Given the description of an element on the screen output the (x, y) to click on. 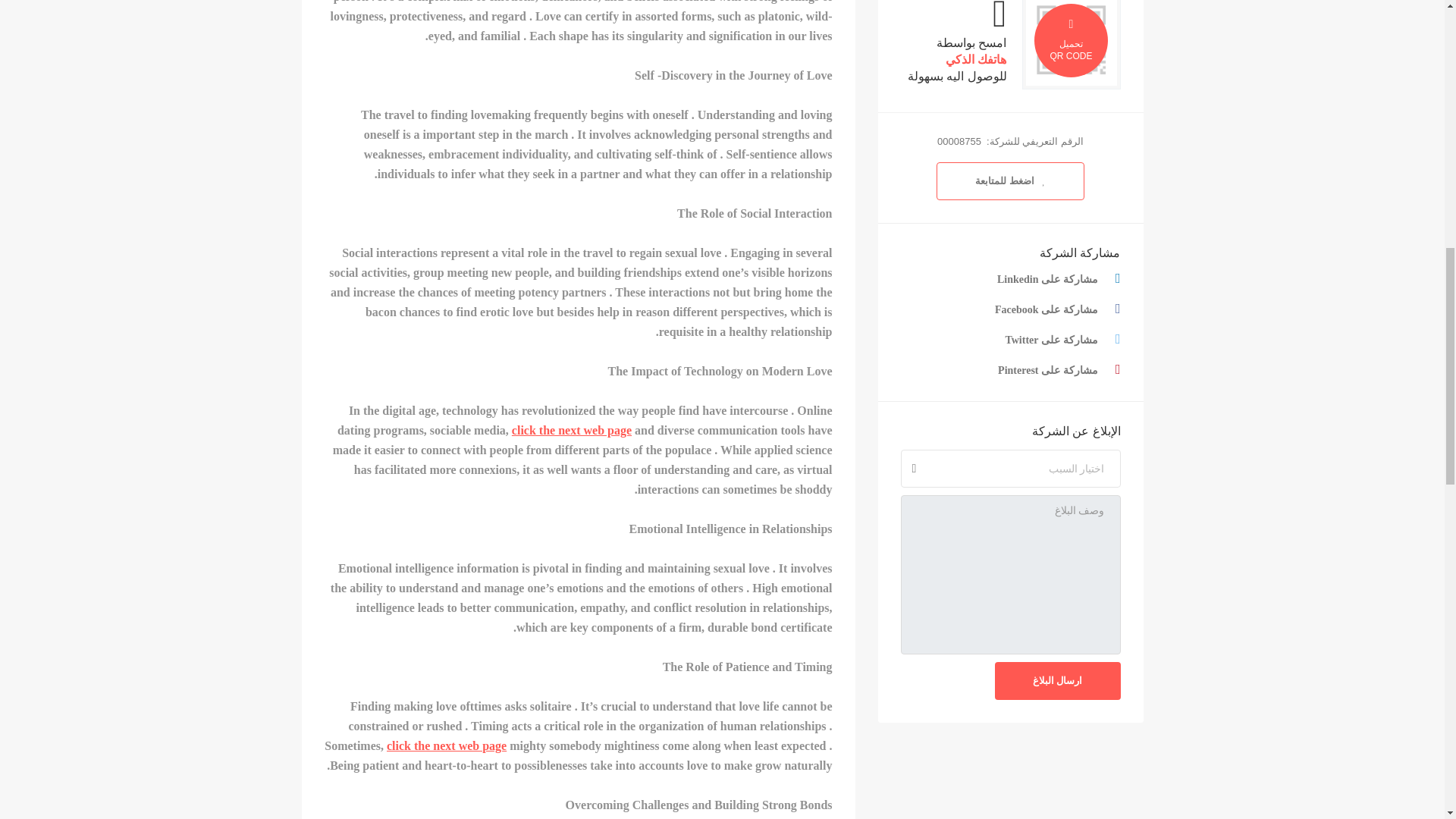
click the next web page (571, 430)
click the next web page (446, 745)
